Given the description of an element on the screen output the (x, y) to click on. 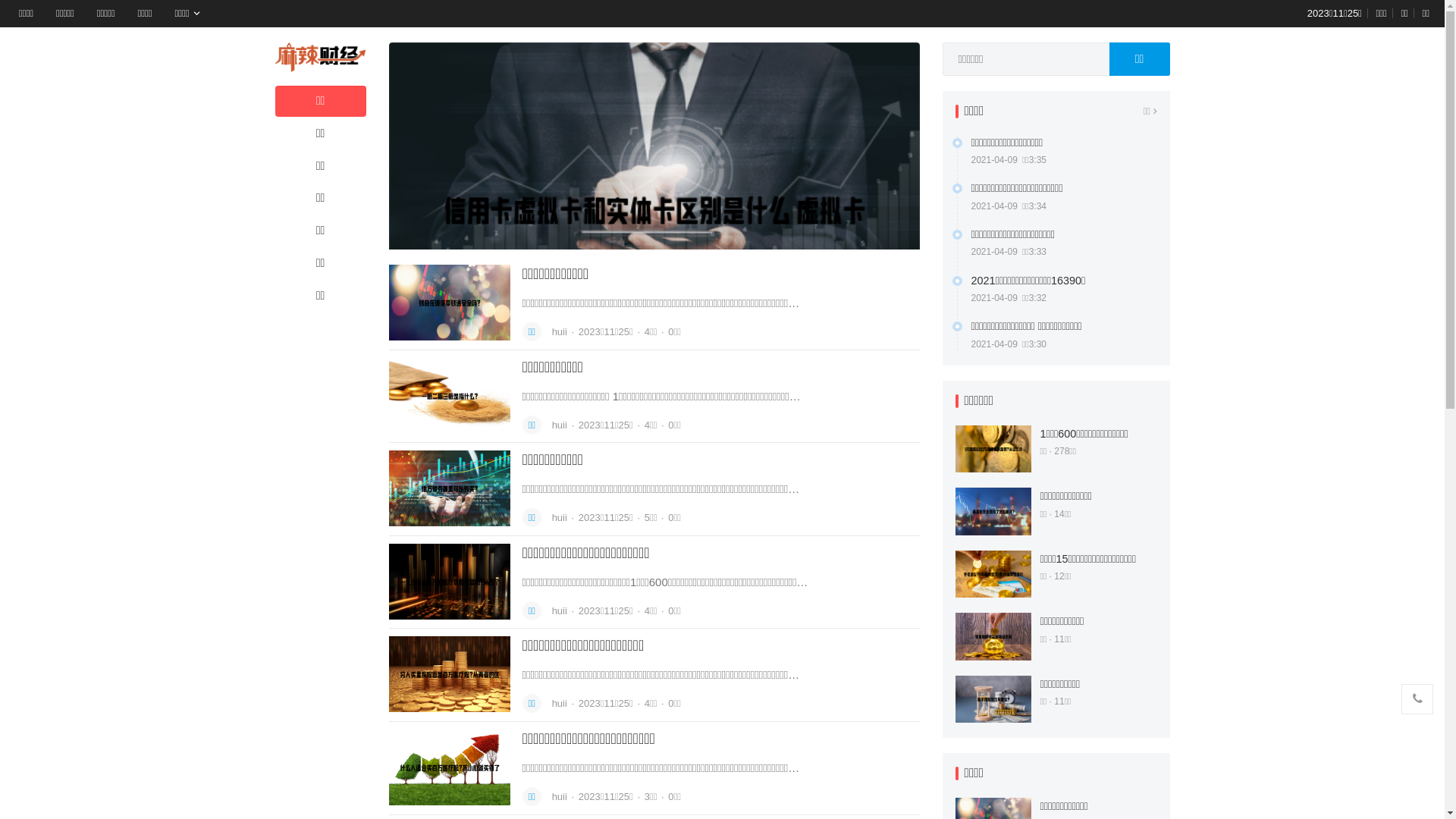
huii Element type: text (561, 424)
huii Element type: text (561, 796)
huii Element type: text (561, 610)
huii Element type: text (561, 517)
huii Element type: text (561, 331)
huii Element type: text (561, 703)
